Given the description of an element on the screen output the (x, y) to click on. 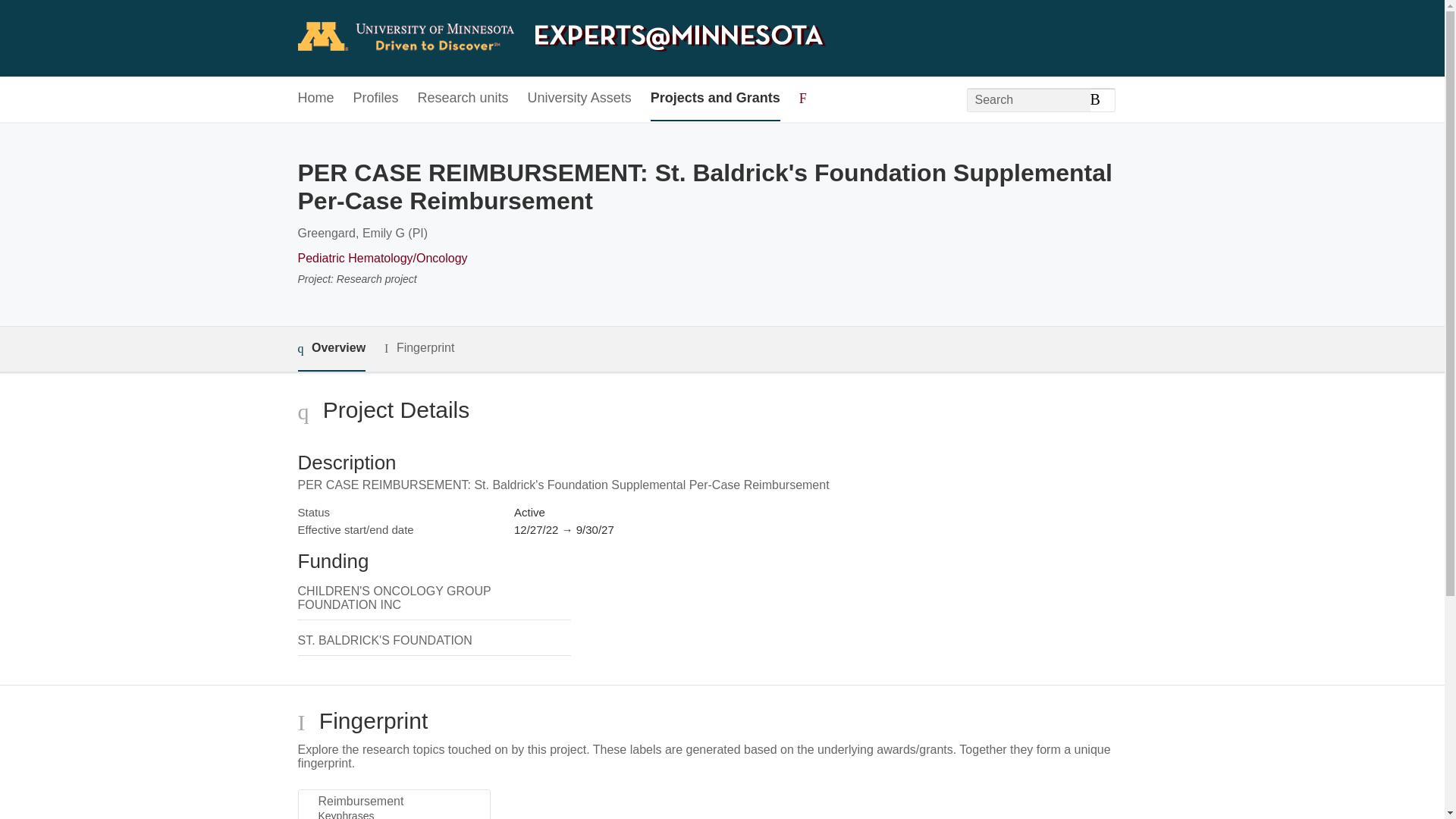
Fingerprint (419, 348)
Overview (331, 348)
Profiles (375, 98)
Research units (462, 98)
University Assets (579, 98)
Projects and Grants (715, 98)
